Given the description of an element on the screen output the (x, y) to click on. 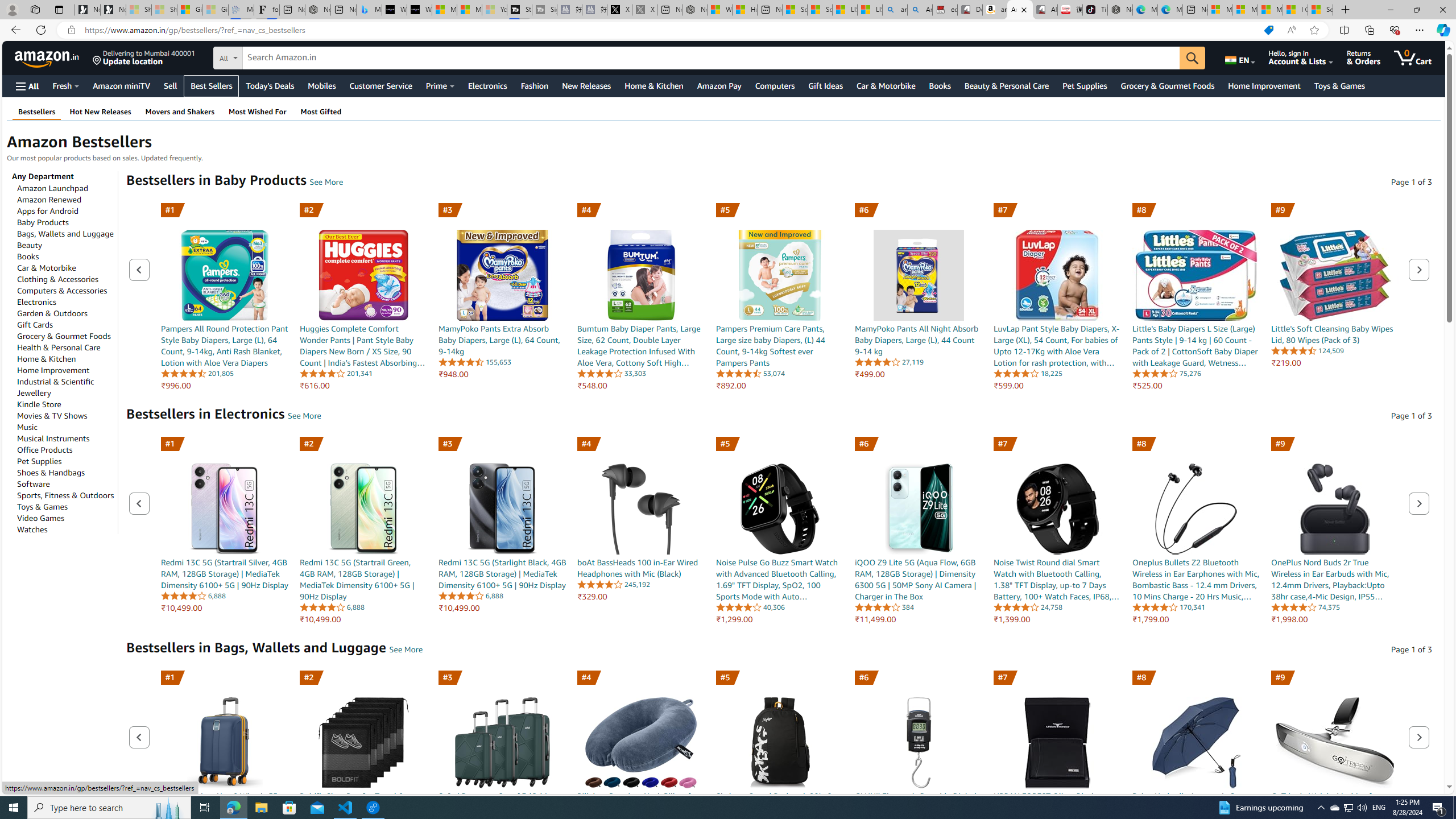
Apps for Android (47, 210)
X (619, 9)
Garden & Outdoors (52, 312)
Home & Kitchen (46, 358)
Little's Soft Cleansing Baby Wipes Lid, 80 Wipes (Pack of 3) (1335, 275)
Electronics (36, 301)
Amazon miniTV (121, 85)
